Given the description of an element on the screen output the (x, y) to click on. 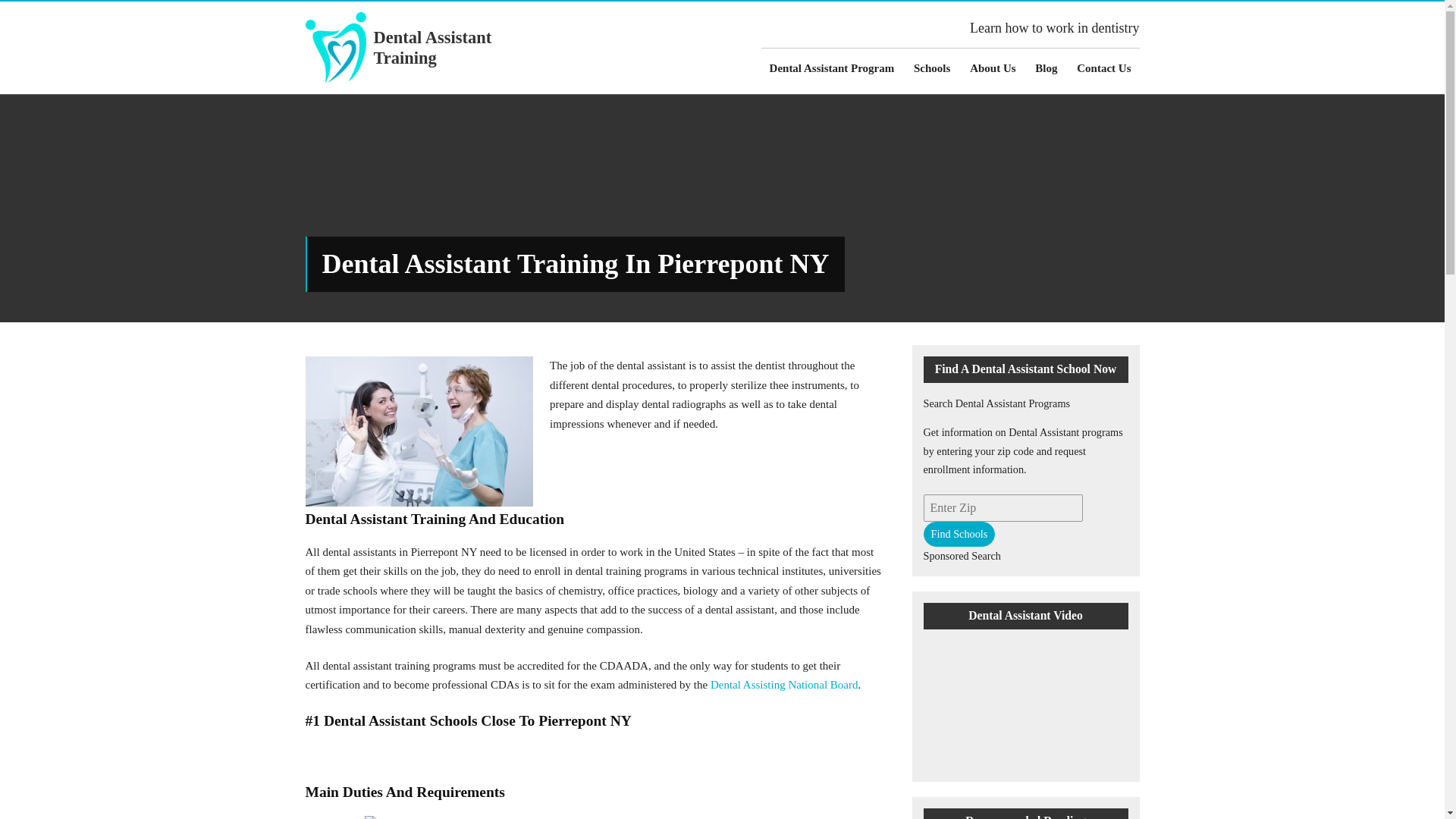
Dental Assisting National Board (784, 684)
Schools (931, 68)
Dental Assistant Program (831, 68)
YouTube video player (1025, 697)
Find Schools (959, 533)
About Us (992, 68)
Contact Us (1103, 68)
Find Schools (959, 533)
Blog (1045, 68)
